Given the description of an element on the screen output the (x, y) to click on. 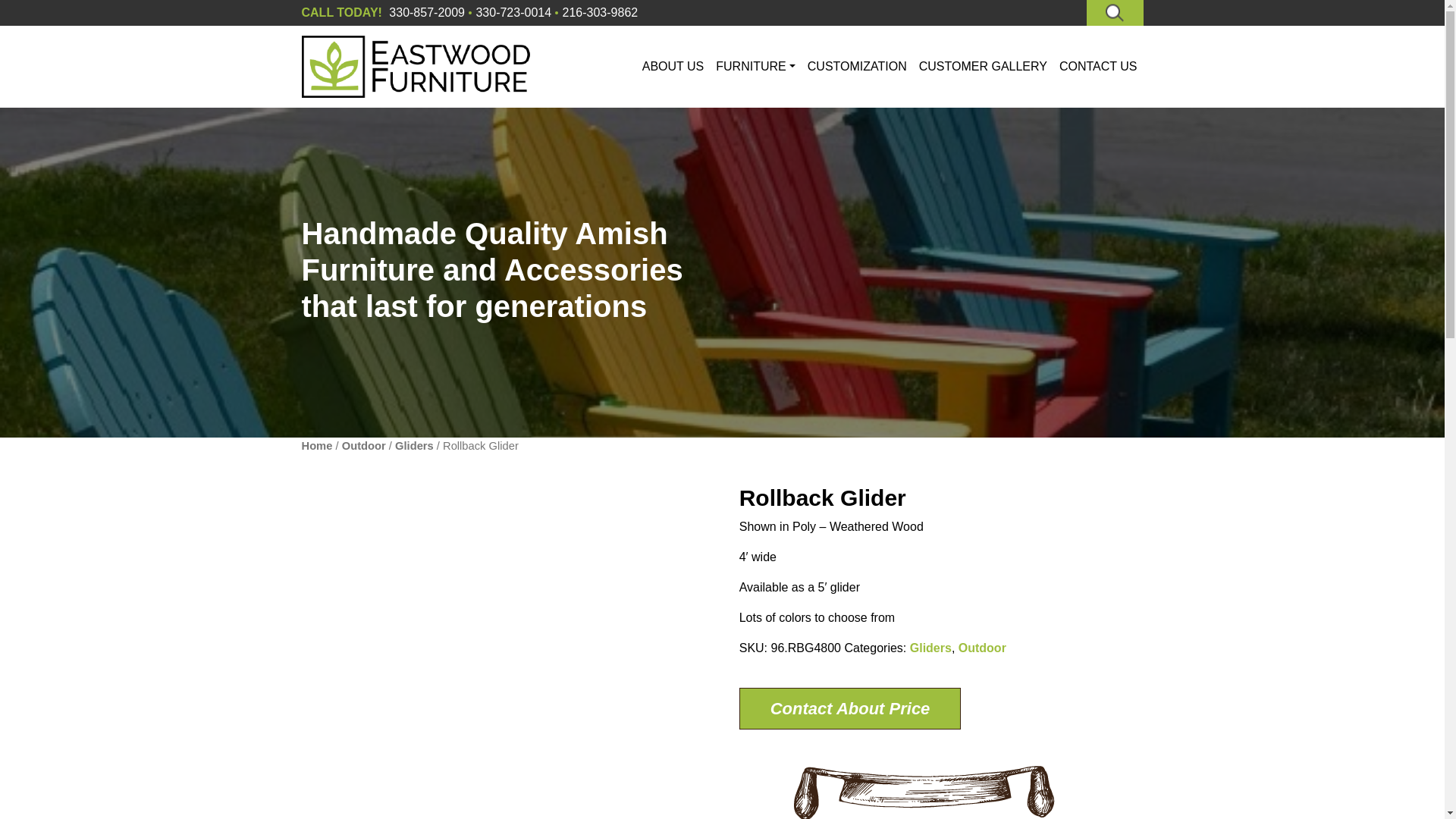
CALL TODAY! (341, 12)
ABOUT US (673, 66)
FURNITURE (756, 66)
330-723-0014 (513, 12)
SEARCH (1114, 12)
Search (1114, 12)
216-303-9862 (600, 12)
330-857-2009 (426, 12)
